Given the description of an element on the screen output the (x, y) to click on. 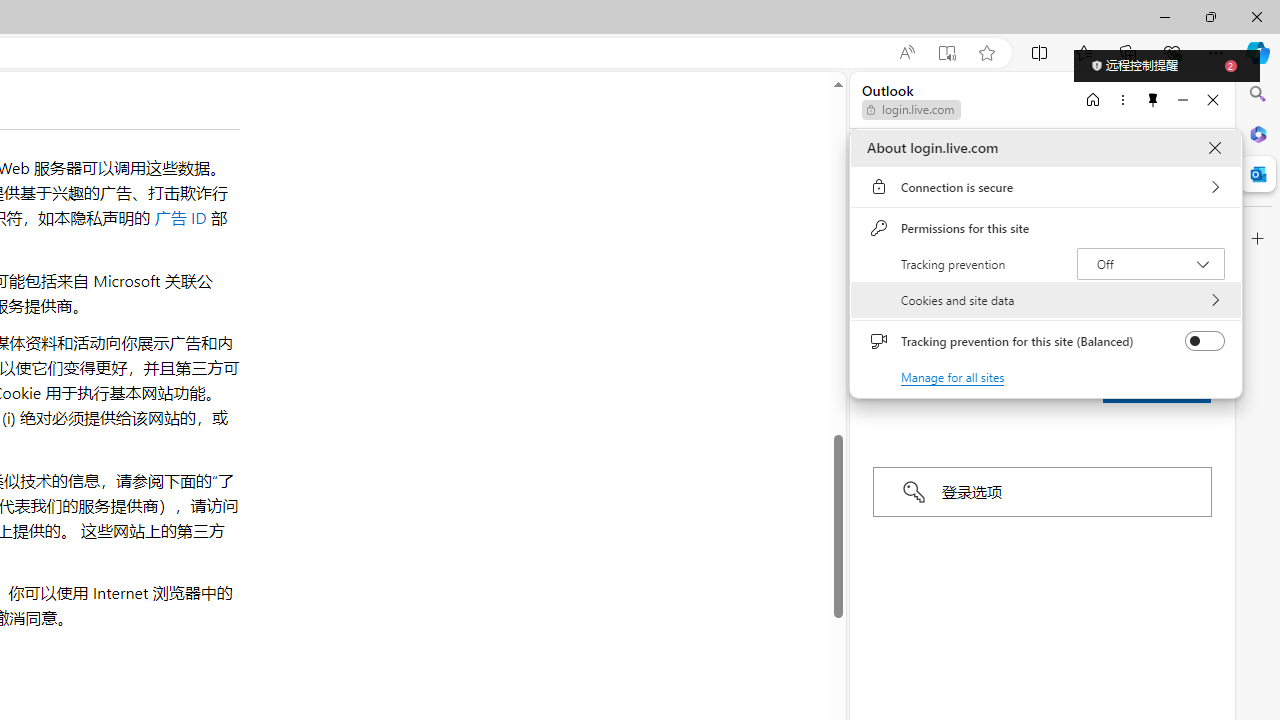
Tracking prevention Off (1150, 263)
Manage for all sites (952, 376)
Connection is secure (1046, 187)
About login.live.com (1214, 147)
Tracking prevention for this site (Balanced) (1204, 341)
Permissions for this site (1046, 228)
Cookies and site data (1046, 300)
